Given the description of an element on the screen output the (x, y) to click on. 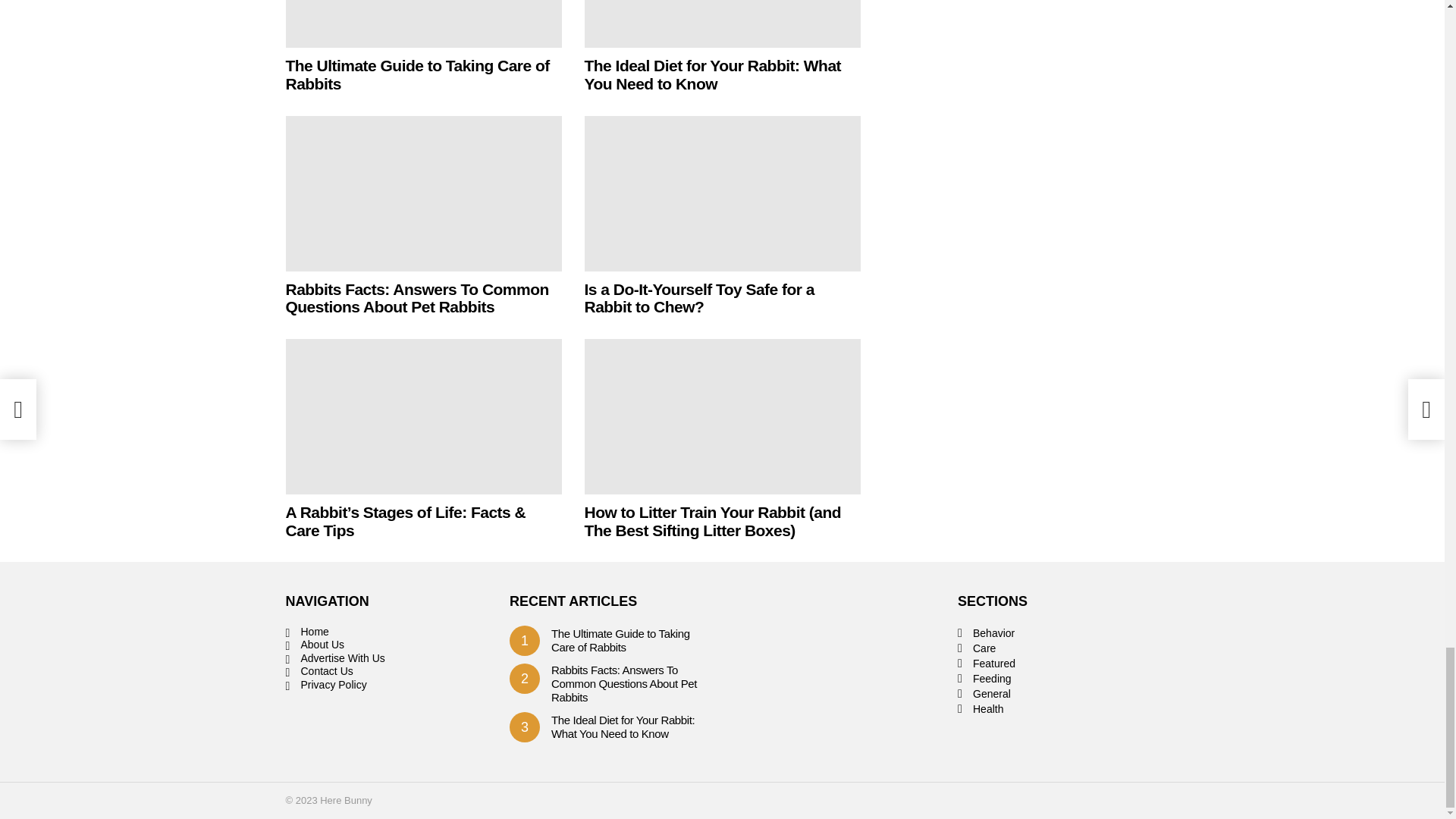
Rabbits Facts: Answers To Common Questions About Pet Rabbits (422, 193)
Is a Do-It-Yourself Toy Safe for a Rabbit to Chew? (721, 193)
The Ultimate Guide to Taking Care of Rabbits (422, 23)
The Ideal Diet for Your Rabbit: What You Need to Know (721, 23)
